Given the description of an element on the screen output the (x, y) to click on. 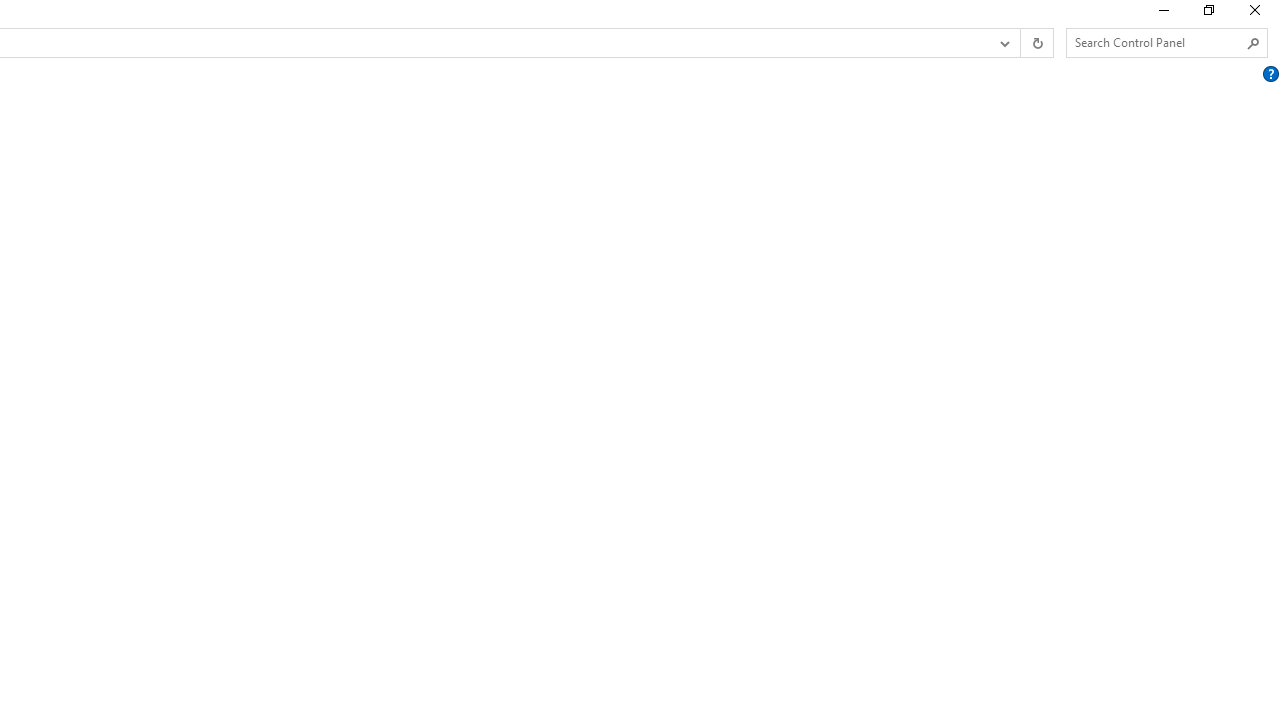
Help (1271, 73)
Address band toolbar (1019, 43)
Search Box (1156, 42)
Search (1253, 43)
Previous Locations (1003, 43)
Refresh "Backup and Restore (Windows 7)" (F5) (1036, 43)
Restore (1208, 14)
Minimize (1162, 14)
